Given the description of an element on the screen output the (x, y) to click on. 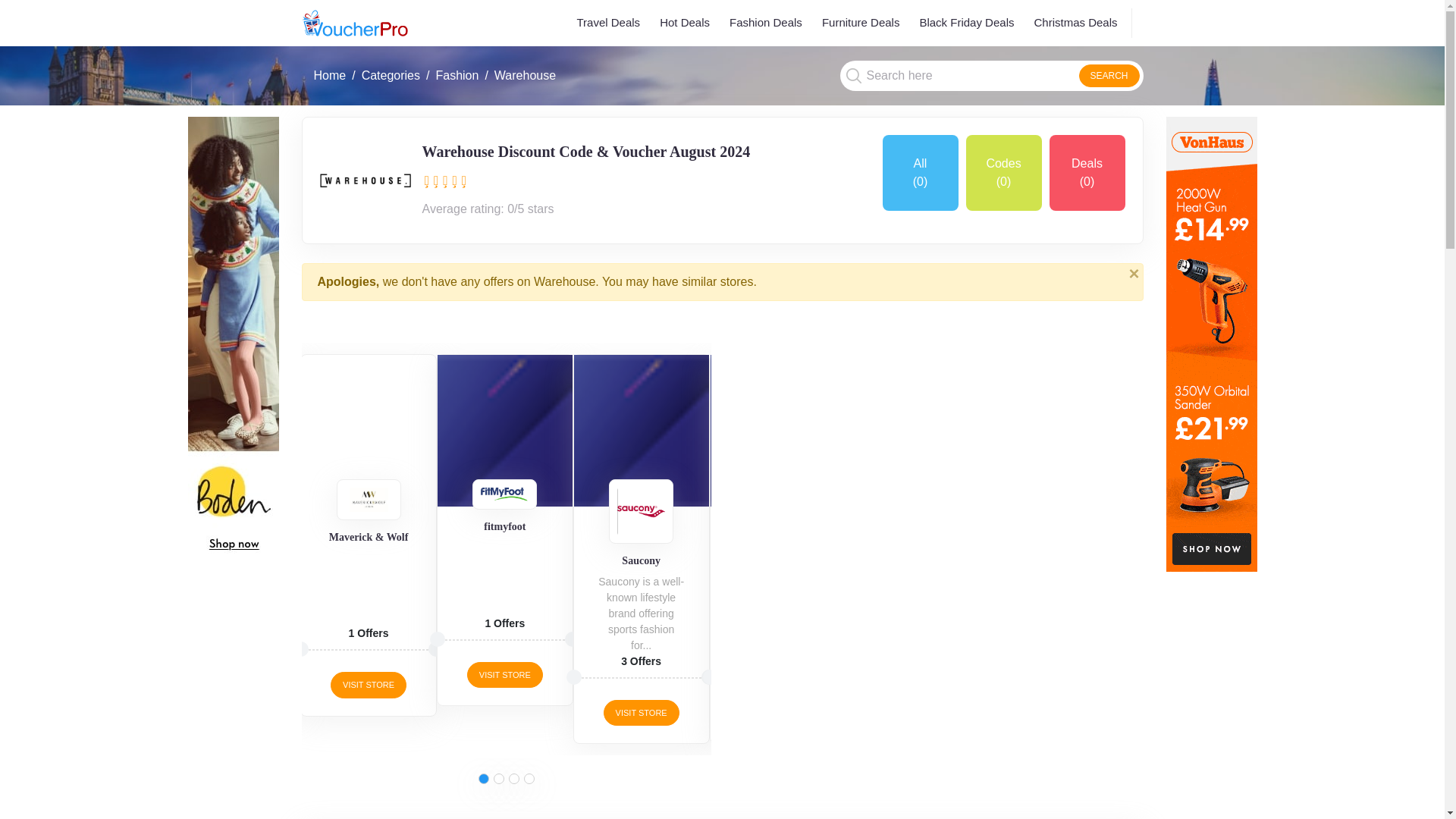
Travel Deals (608, 22)
SEARCH (1108, 75)
Christmas Deals (1074, 22)
Categories (390, 74)
Fashion Deals (765, 22)
Hot Deals (684, 22)
Fashion (457, 74)
Furniture Deals (860, 22)
Black Friday Deals (966, 22)
VISIT STORE (368, 684)
Home (330, 74)
